Given the description of an element on the screen output the (x, y) to click on. 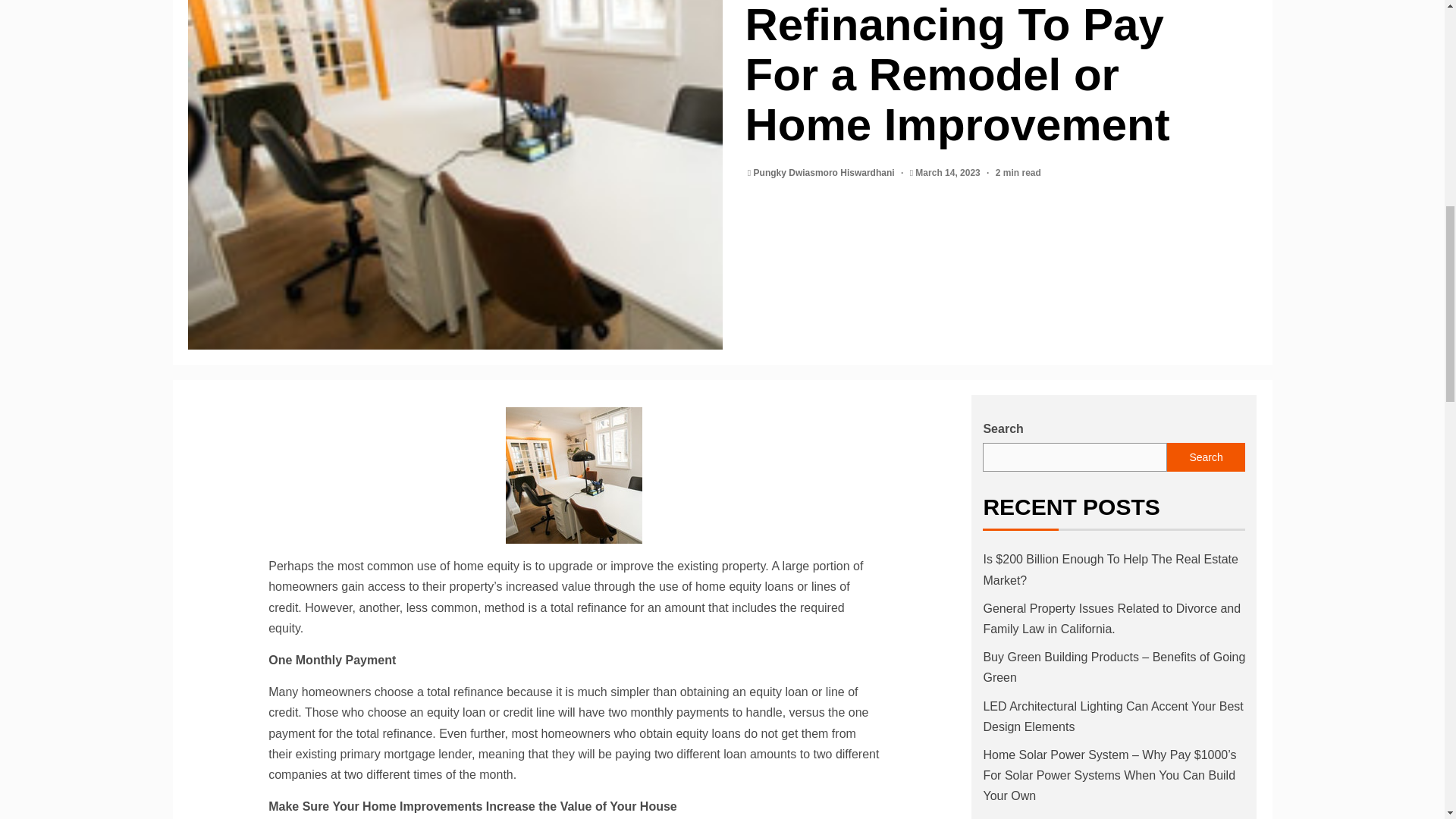
Pungky Dwiasmoro Hiswardhani (825, 172)
Refinancing To Pay For a Remodel or Home Improvement (573, 475)
